Given the description of an element on the screen output the (x, y) to click on. 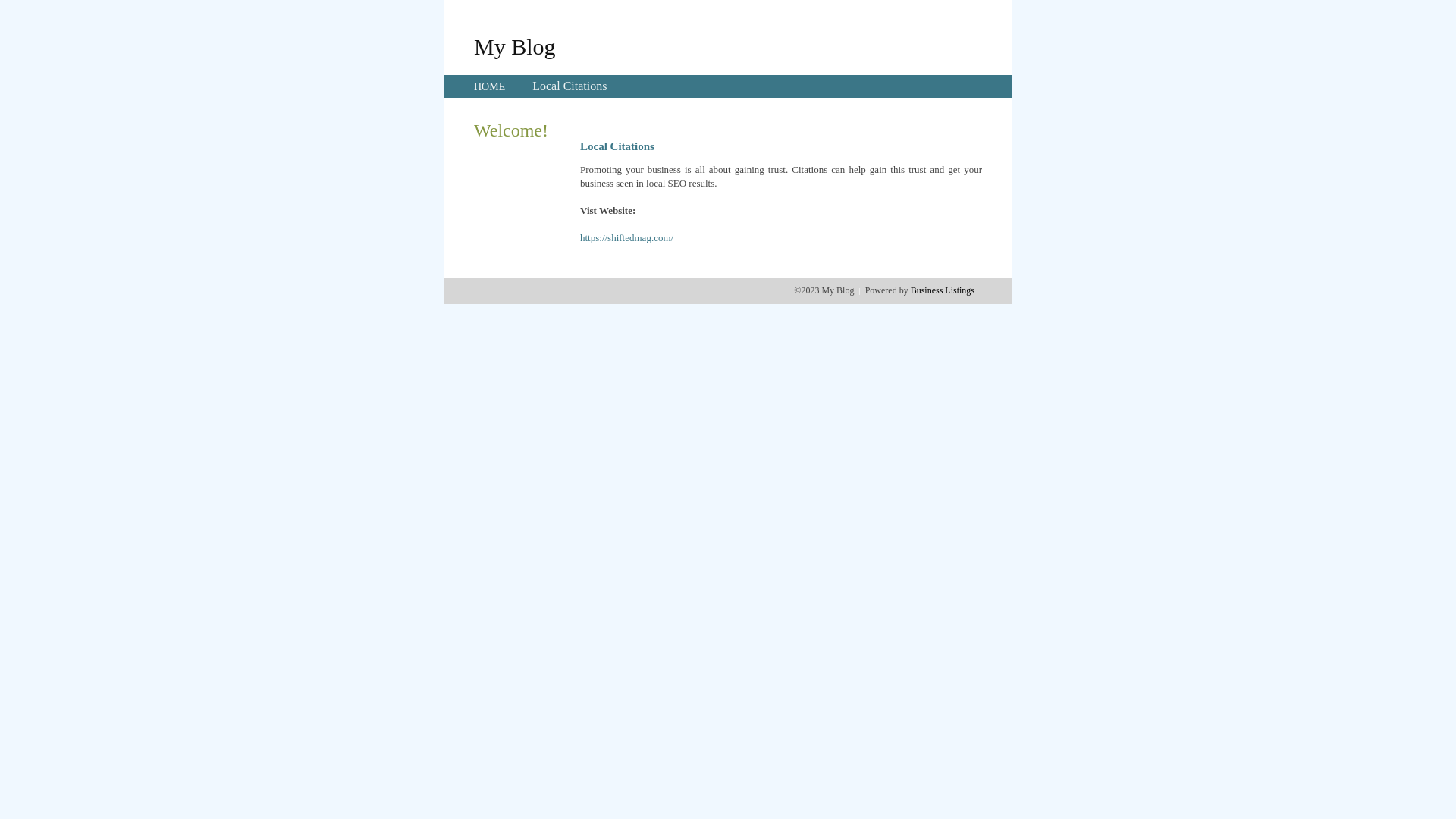
My Blog Element type: text (514, 46)
https://shiftedmag.com/ Element type: text (626, 237)
HOME Element type: text (489, 86)
Local Citations Element type: text (569, 85)
Business Listings Element type: text (942, 290)
